Given the description of an element on the screen output the (x, y) to click on. 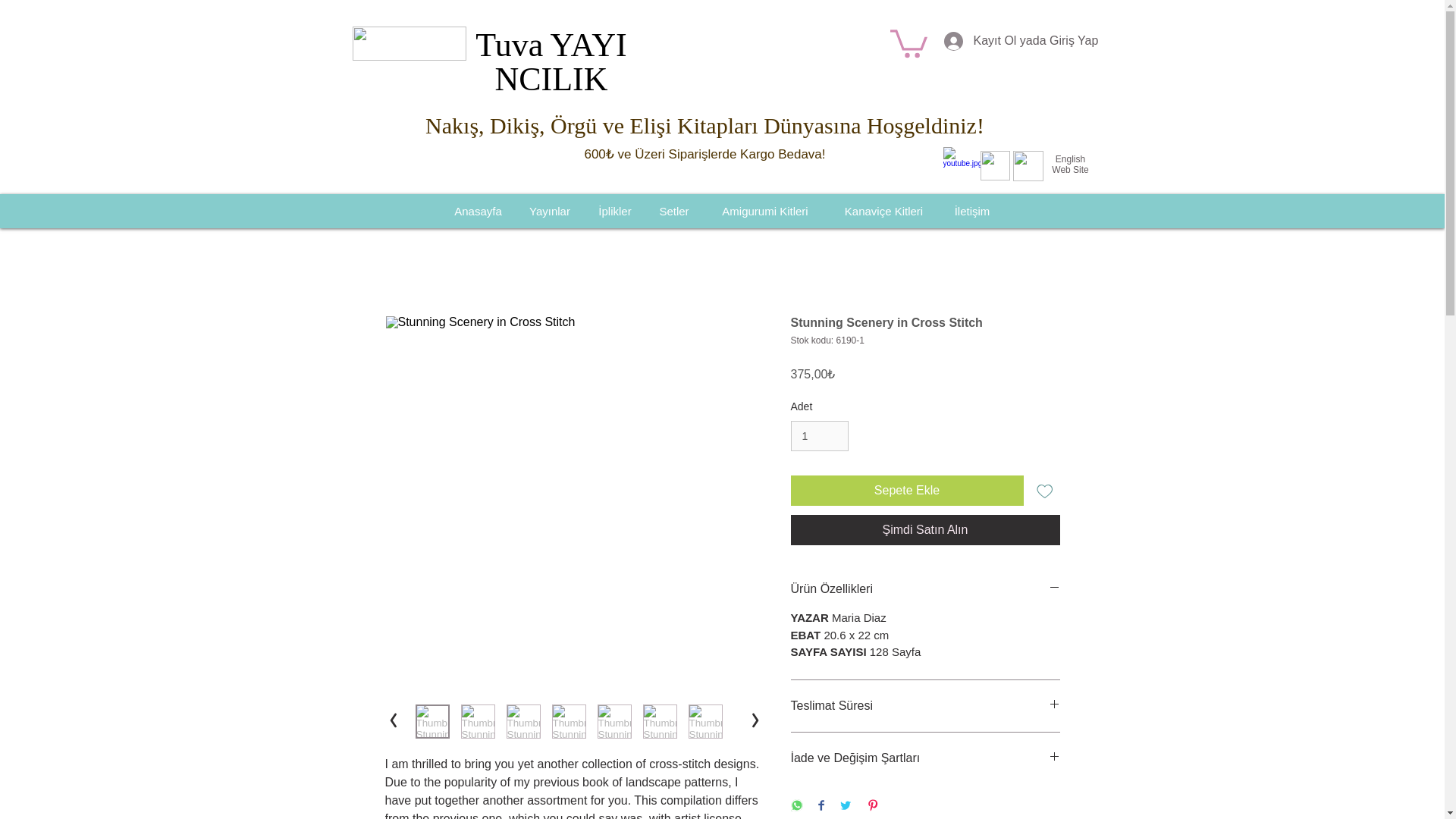
Setler (673, 211)
English Web Site (1069, 164)
Amigurumi Kitleri (764, 211)
Tuva YAYINCILIK (551, 61)
1 (818, 436)
Anasayfa (477, 211)
Sepete Ekle (906, 490)
insta.png (1028, 165)
